Given the description of an element on the screen output the (x, y) to click on. 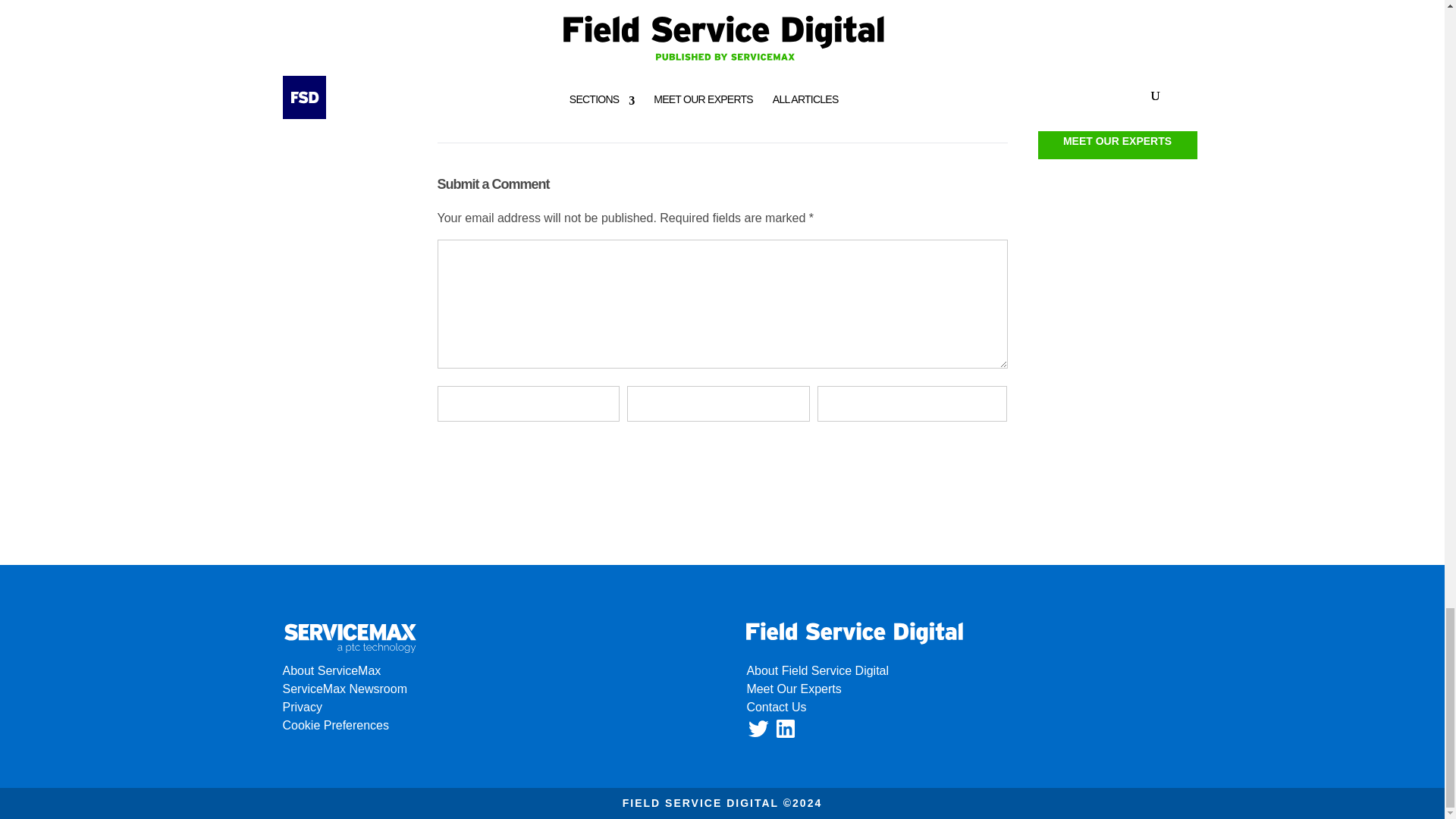
Submit Comment (932, 452)
